Given the description of an element on the screen output the (x, y) to click on. 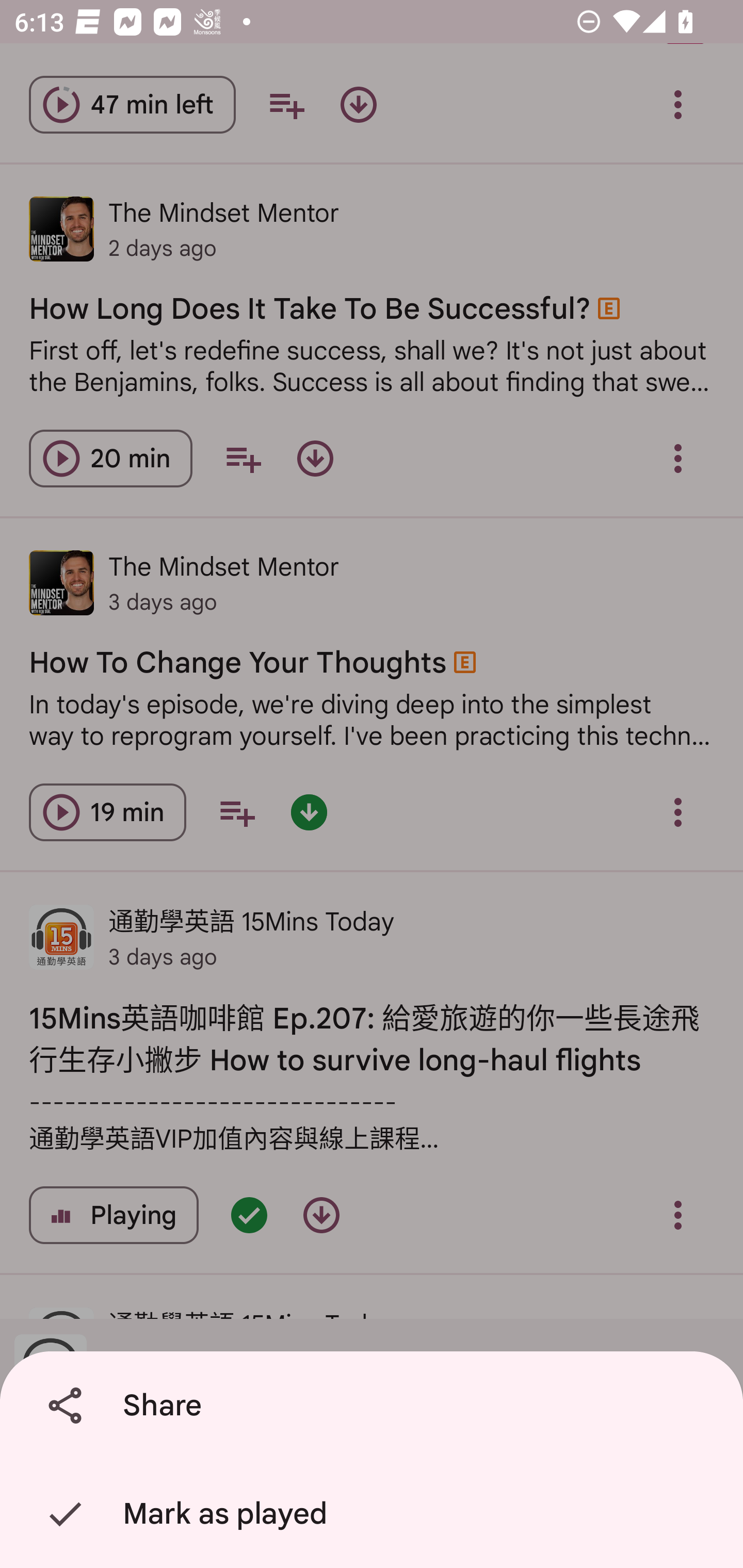
Share (375, 1405)
Mark as played (375, 1513)
